Given the description of an element on the screen output the (x, y) to click on. 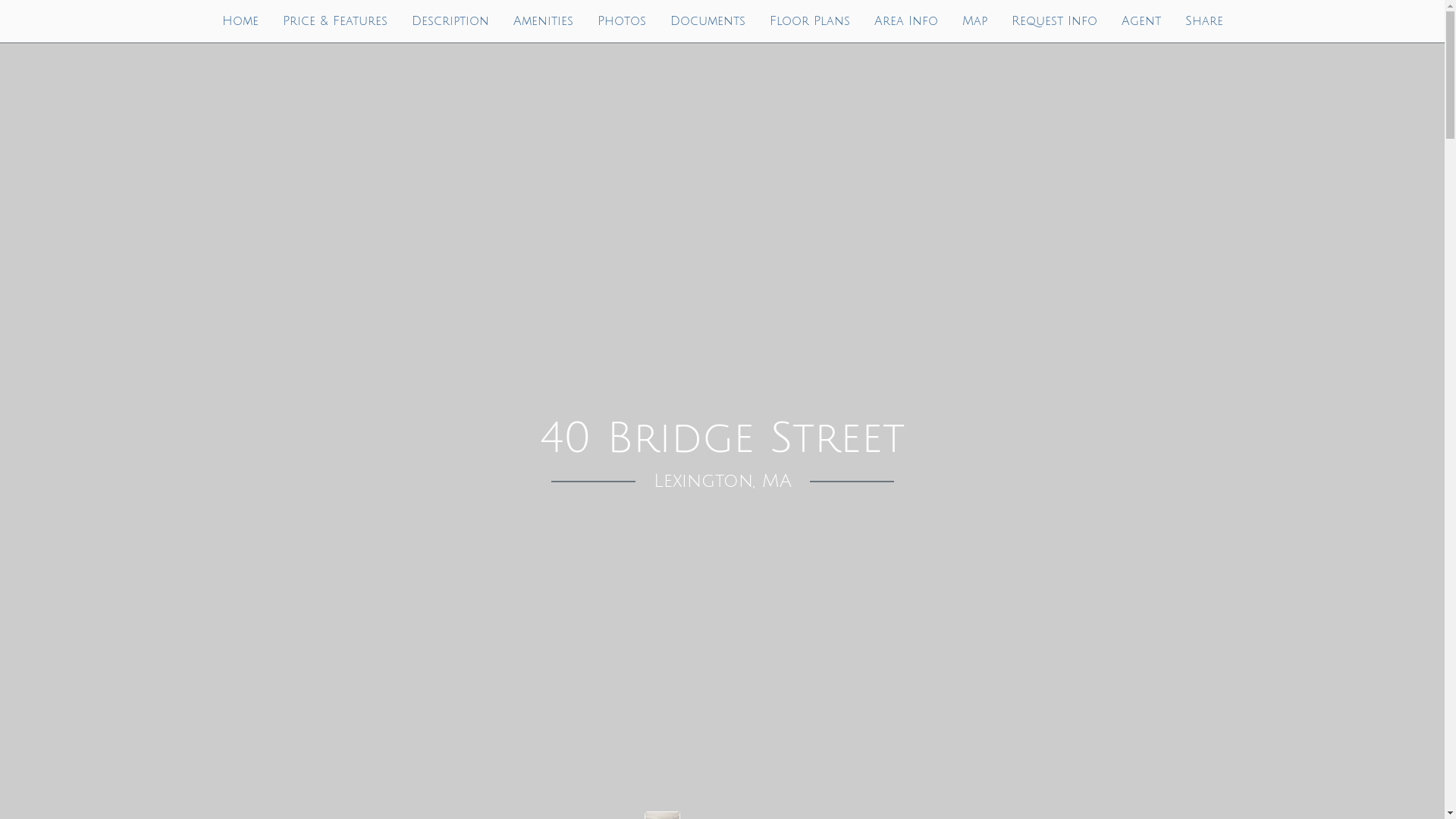
Area Info Element type: text (905, 21)
Amenities Element type: text (542, 21)
Documents Element type: text (707, 21)
Photos Element type: text (621, 21)
Price & Features Element type: text (333, 21)
Description Element type: text (449, 21)
Home Element type: text (239, 21)
Map Element type: text (973, 21)
Request Info Element type: text (1054, 21)
Floor Plans Element type: text (808, 21)
Agent Element type: text (1140, 21)
Share Element type: text (1203, 21)
